Given the description of an element on the screen output the (x, y) to click on. 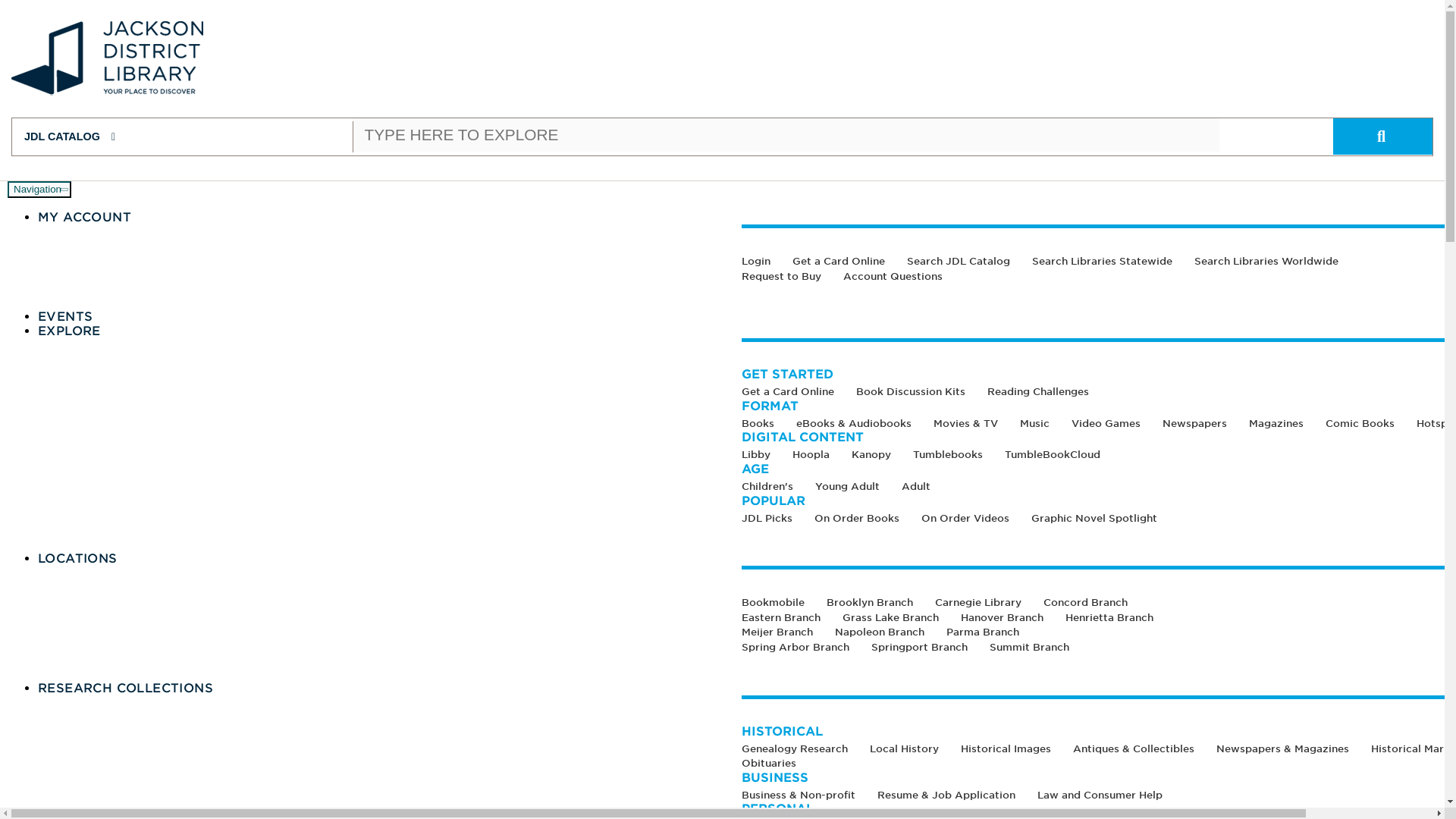
Hoopla (821, 457)
Graphic Novel Spotlight (1103, 520)
Get a Card Online (848, 263)
JDL Catalog (181, 136)
Music (1044, 425)
Book Discussion Kits (921, 394)
Adult (925, 488)
Return to the Home Page (107, 92)
Get a Card Online (798, 394)
Books (768, 425)
Login (766, 263)
TumbleBookCloud (1061, 457)
Video Games (1115, 425)
MY ACCOUNT (84, 216)
Young Adult (857, 488)
